Given the description of an element on the screen output the (x, y) to click on. 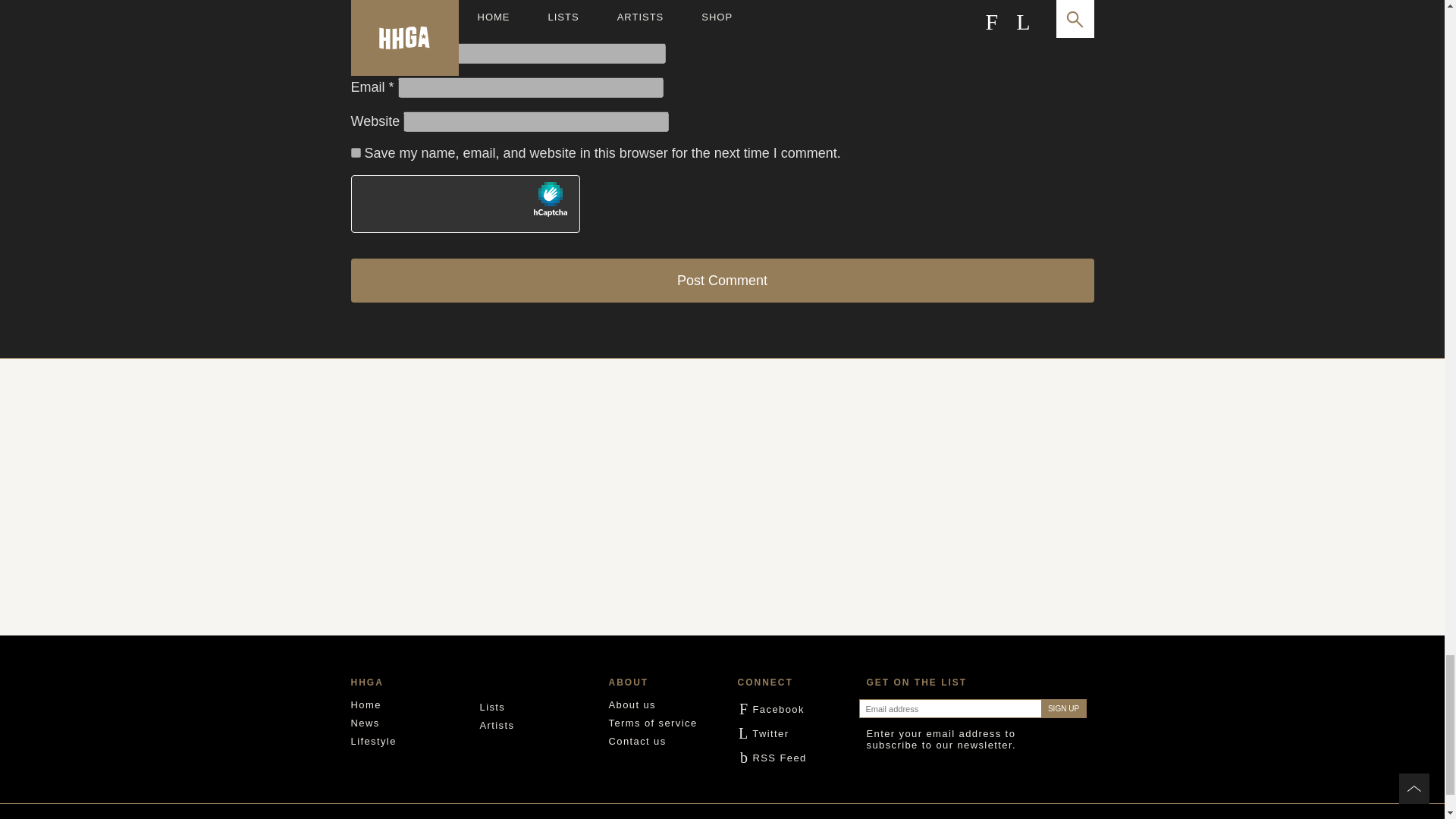
Artists (496, 725)
Terms of service (652, 722)
News (364, 722)
yes (354, 153)
F Facebook (769, 708)
Lists (492, 706)
About us (632, 704)
b RSS Feed (771, 757)
Post Comment (721, 280)
Lifestyle (373, 740)
Sign up (1063, 708)
Sign up (1063, 708)
Post Comment (721, 280)
Home (365, 704)
L Twitter (762, 733)
